Given the description of an element on the screen output the (x, y) to click on. 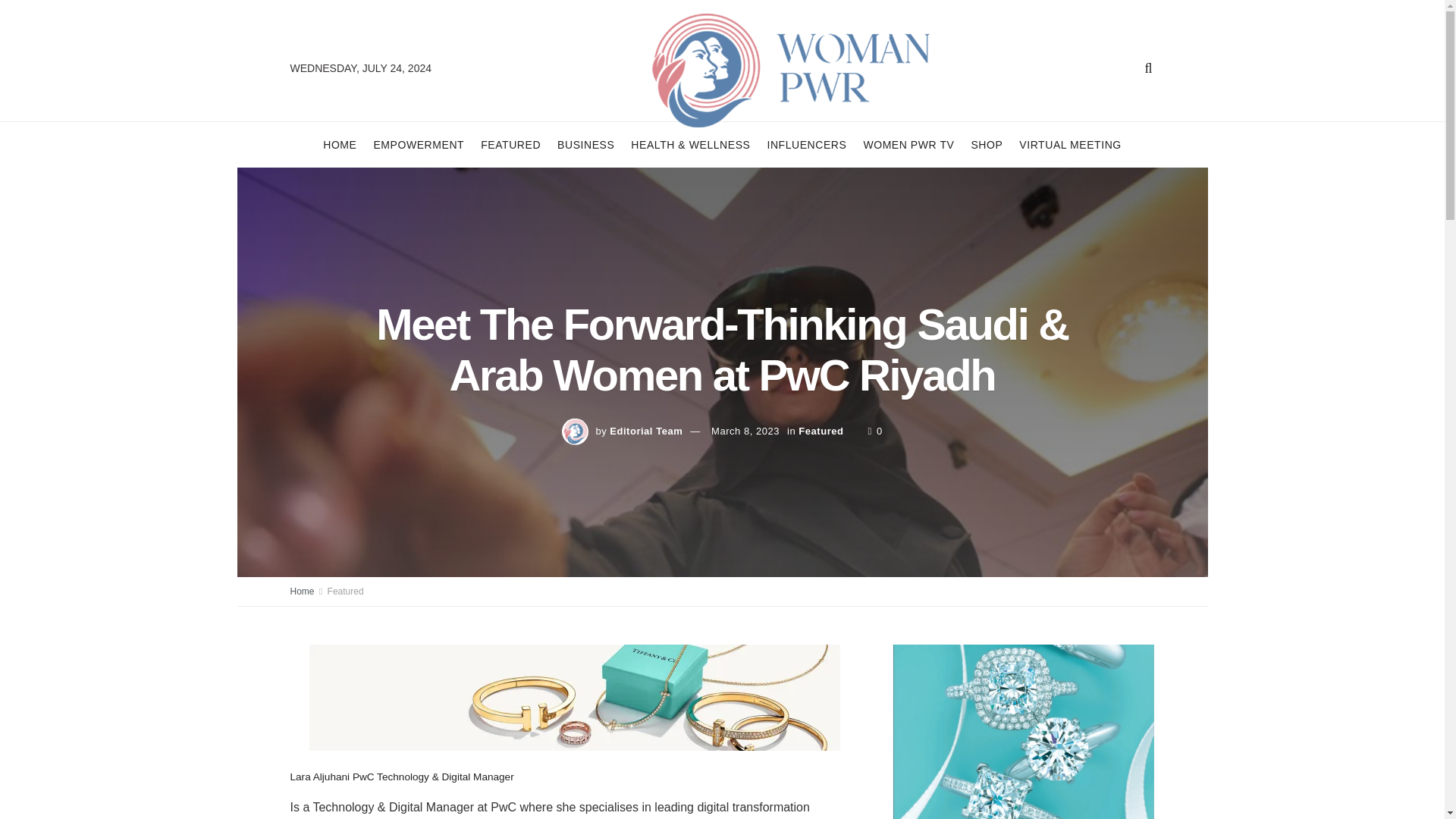
Home (301, 591)
WOMEN PWR TV (908, 144)
FEATURED (510, 144)
BUSINESS (585, 144)
INFLUENCERS (806, 144)
VIRTUAL MEETING (1070, 144)
Editorial Team (646, 430)
0 (874, 430)
Featured (345, 591)
Featured (820, 430)
March 8, 2023 (744, 430)
EMPOWERMENT (418, 144)
